Given the description of an element on the screen output the (x, y) to click on. 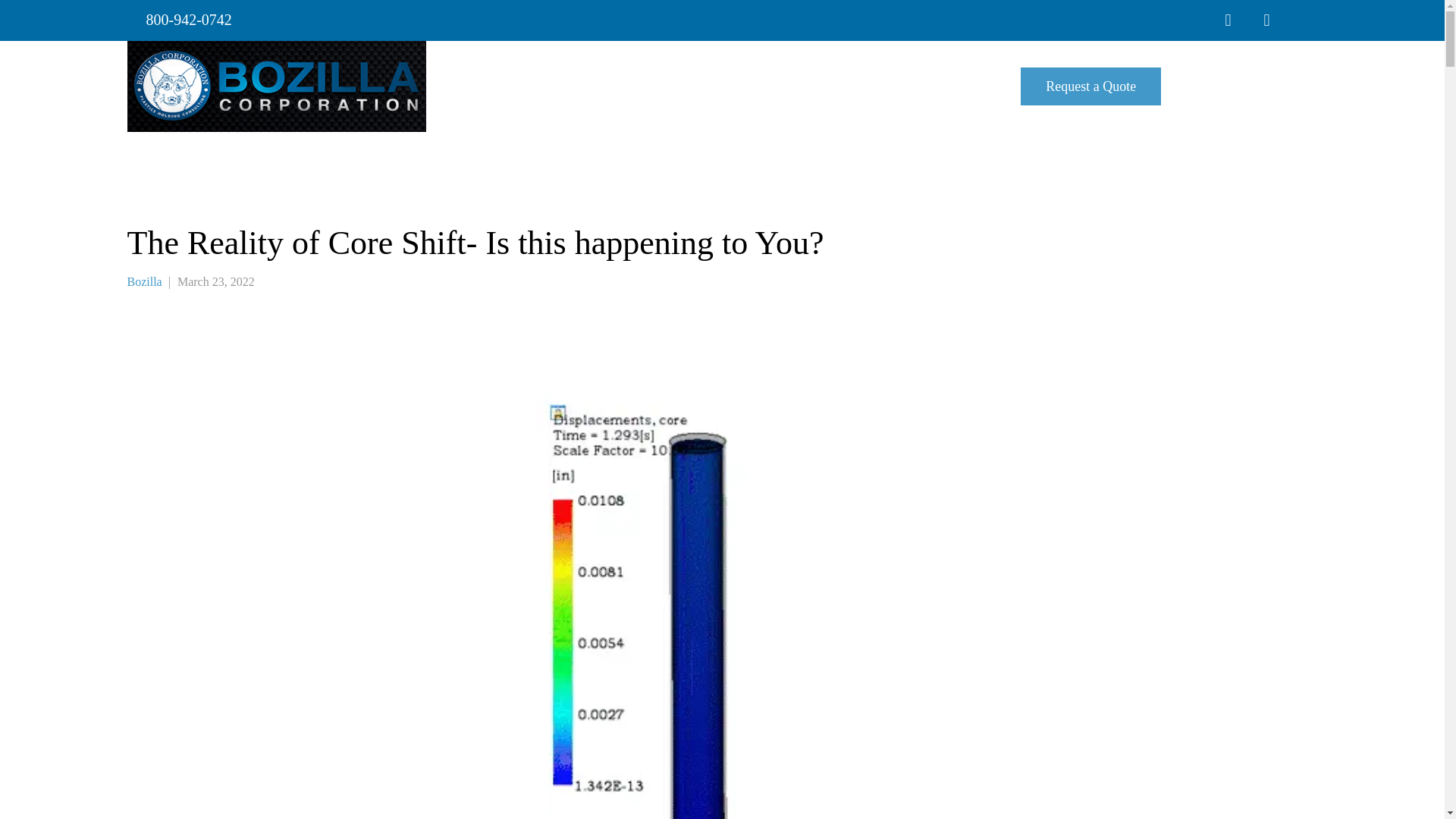
About Us (733, 86)
GOOGLE PLUS (1227, 29)
Contact US (978, 86)
YOUTUBE (1304, 28)
LinkedIn (1265, 29)
Services (794, 86)
Google Plus (1227, 29)
FEA Focus Blog (1217, 86)
Home (679, 86)
LINKEDIN (1265, 29)
